Given the description of an element on the screen output the (x, y) to click on. 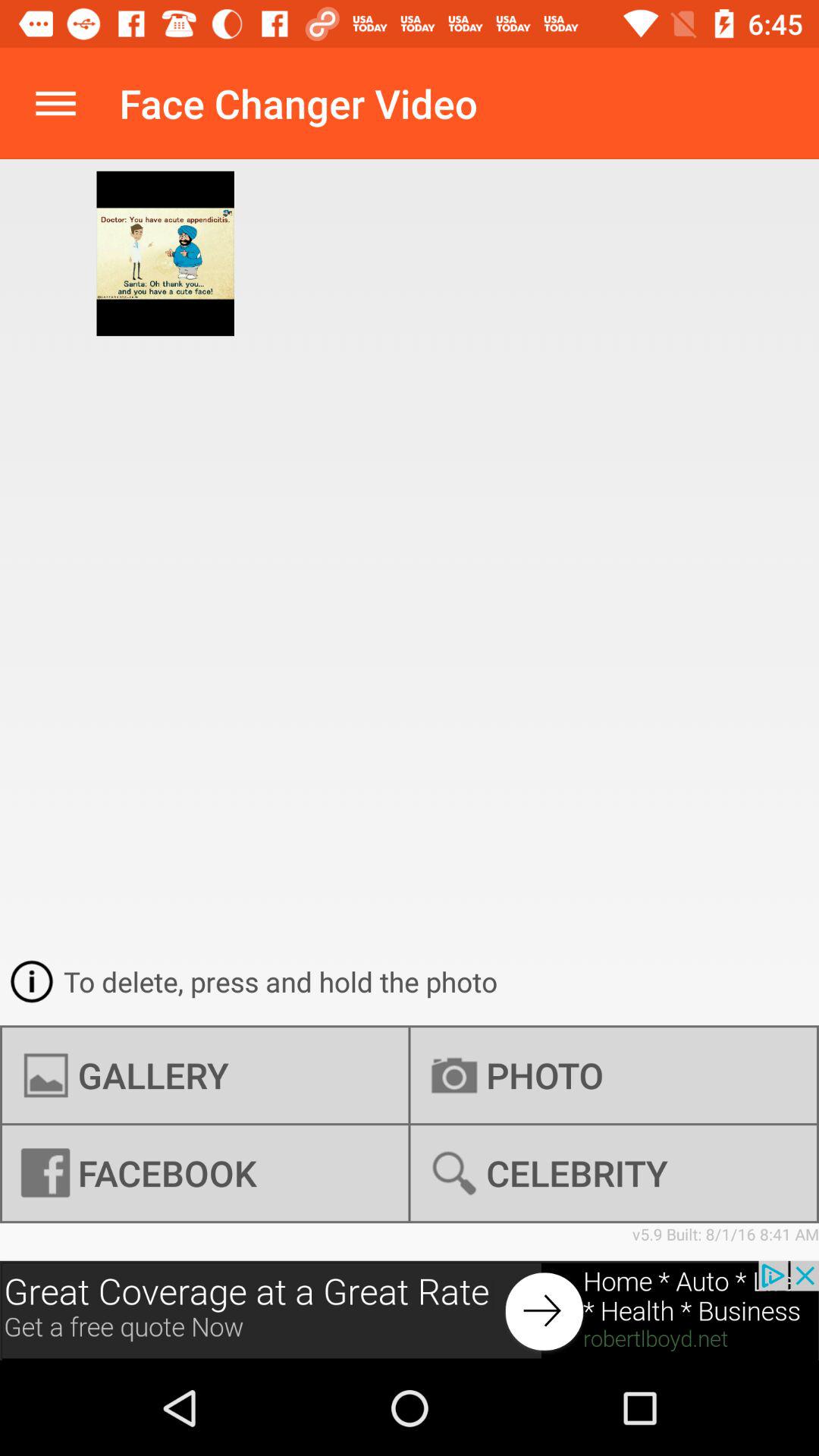
choose the item to the left of the face changer video app (55, 103)
